Given the description of an element on the screen output the (x, y) to click on. 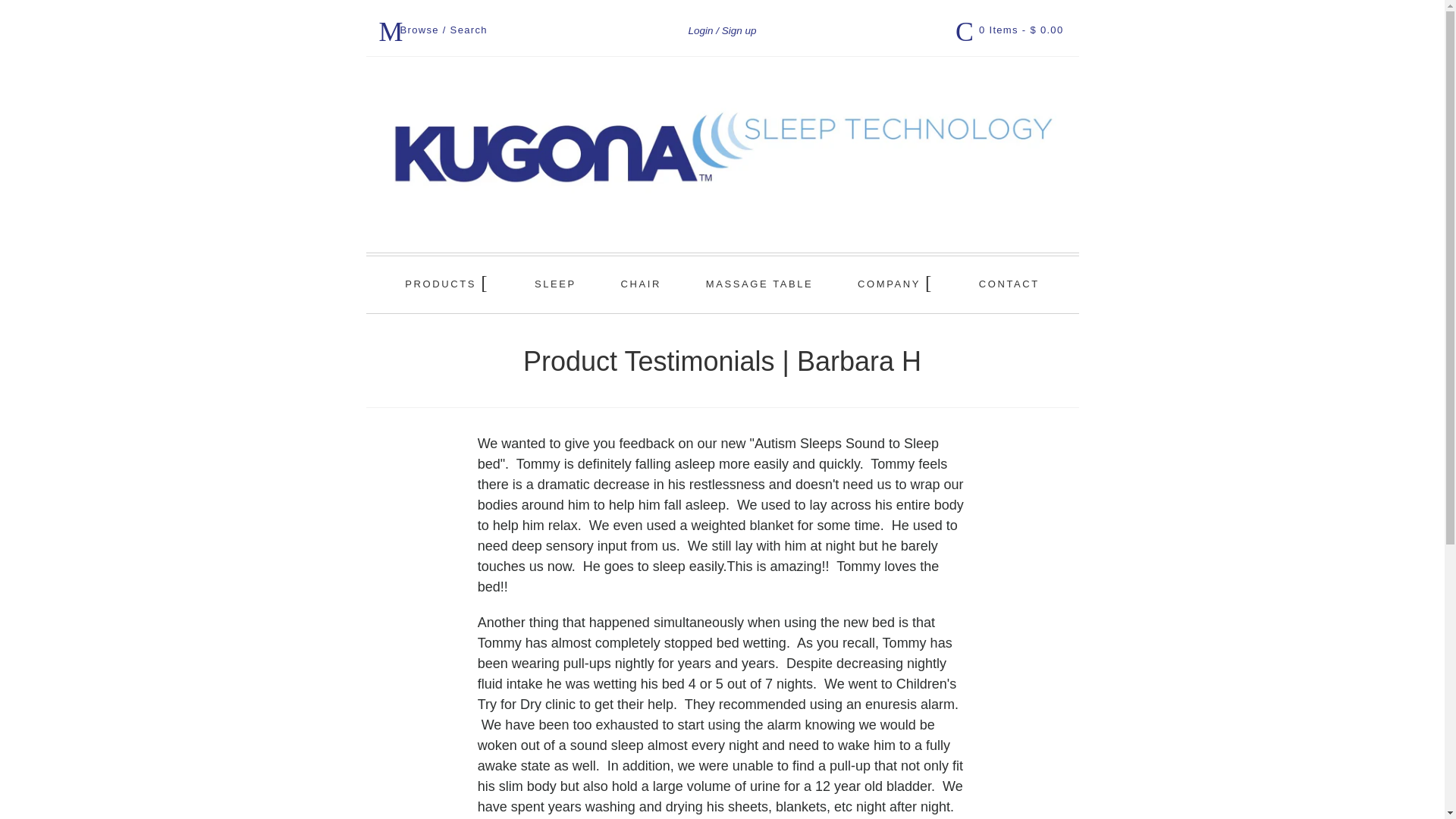
CHAIR (641, 284)
CONTACT (1009, 284)
SLEEP (555, 284)
MASSAGE TABLE (758, 284)
Sign up (739, 30)
Login (703, 30)
